Given the description of an element on the screen output the (x, y) to click on. 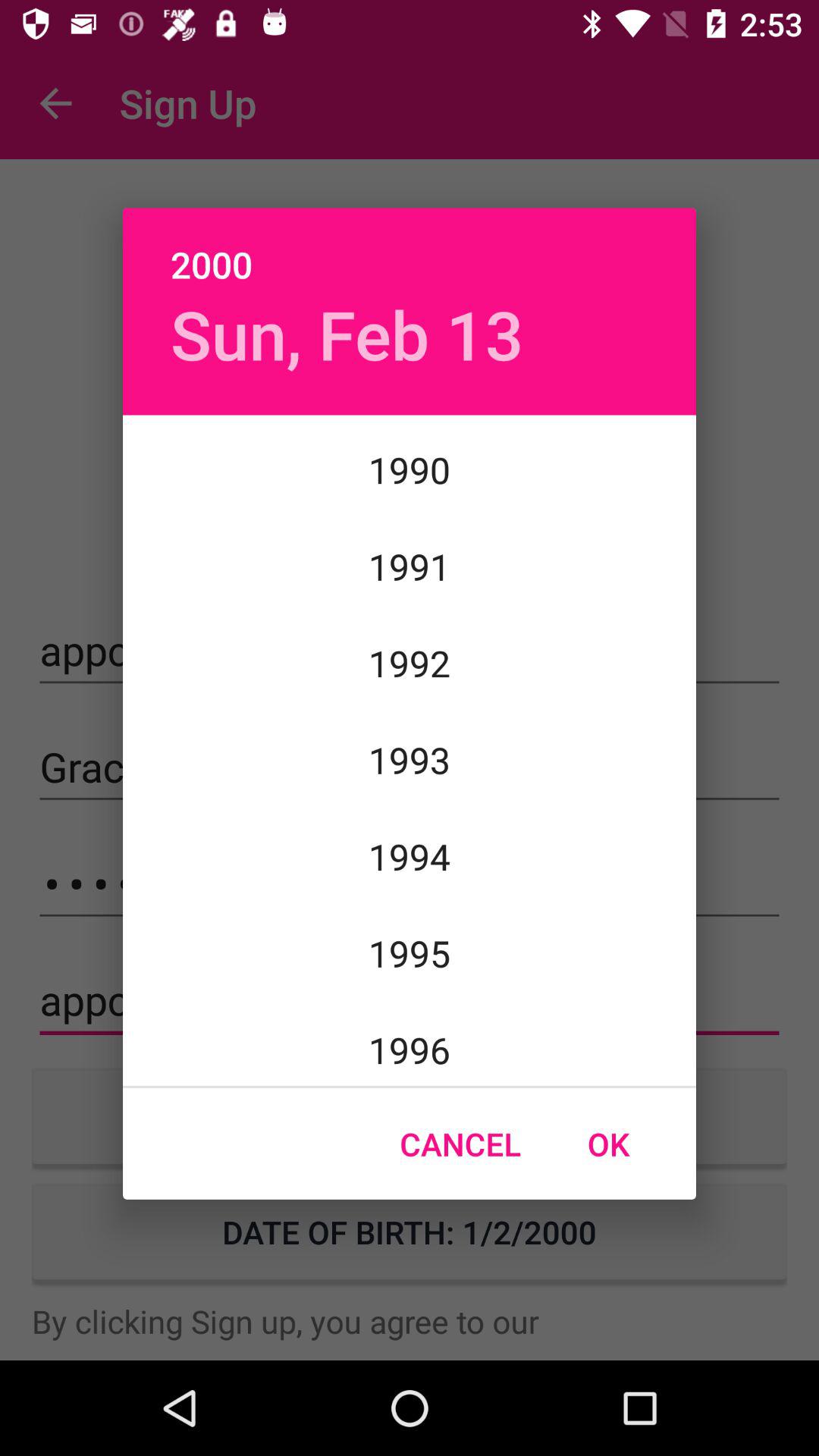
launch the icon next to cancel icon (608, 1143)
